Given the description of an element on the screen output the (x, y) to click on. 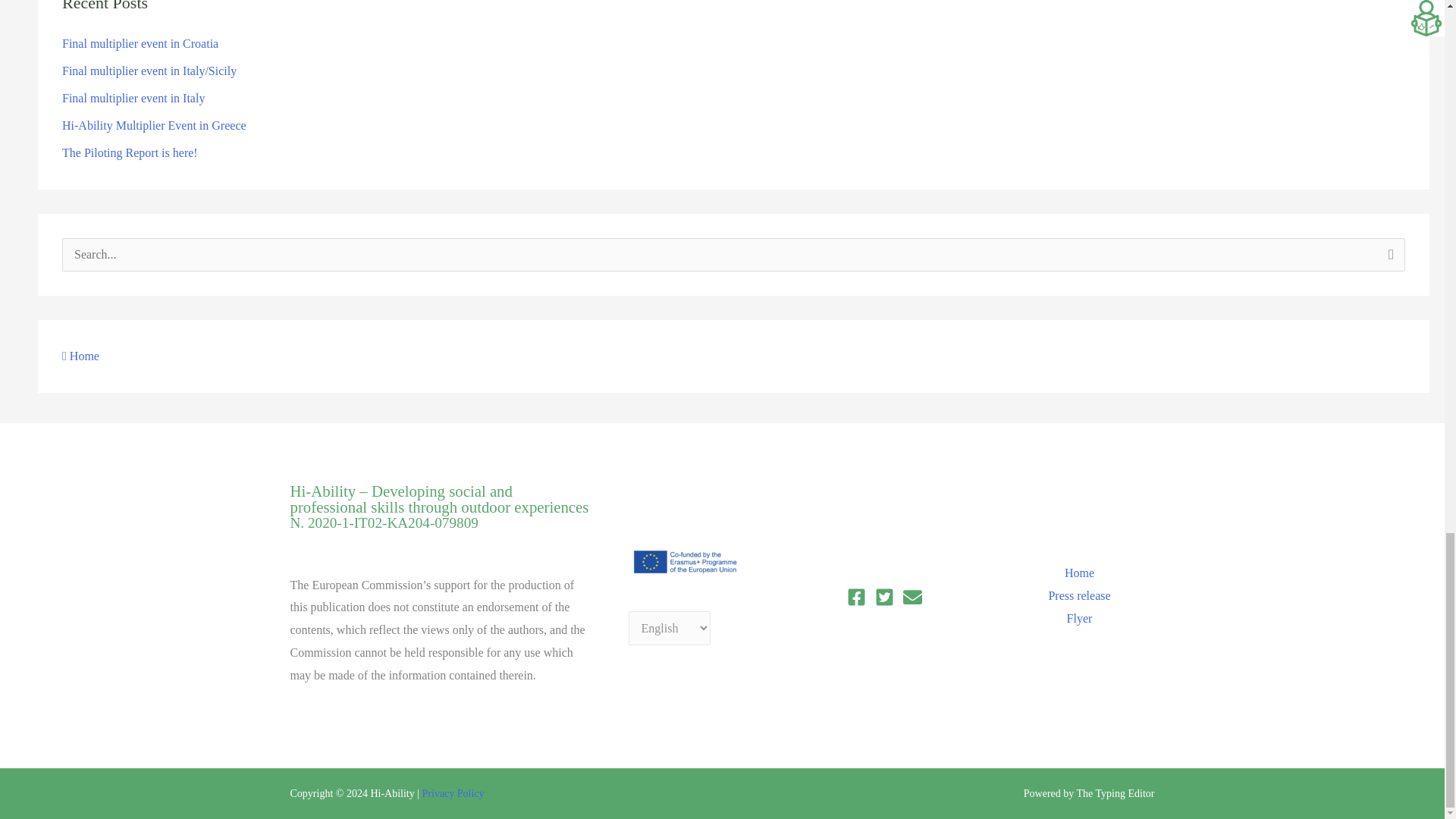
Final multiplier event in Italy (133, 97)
Final multiplier event in Croatia (140, 42)
Hi-Ability Multiplier Event in Greece (154, 124)
